Given the description of an element on the screen output the (x, y) to click on. 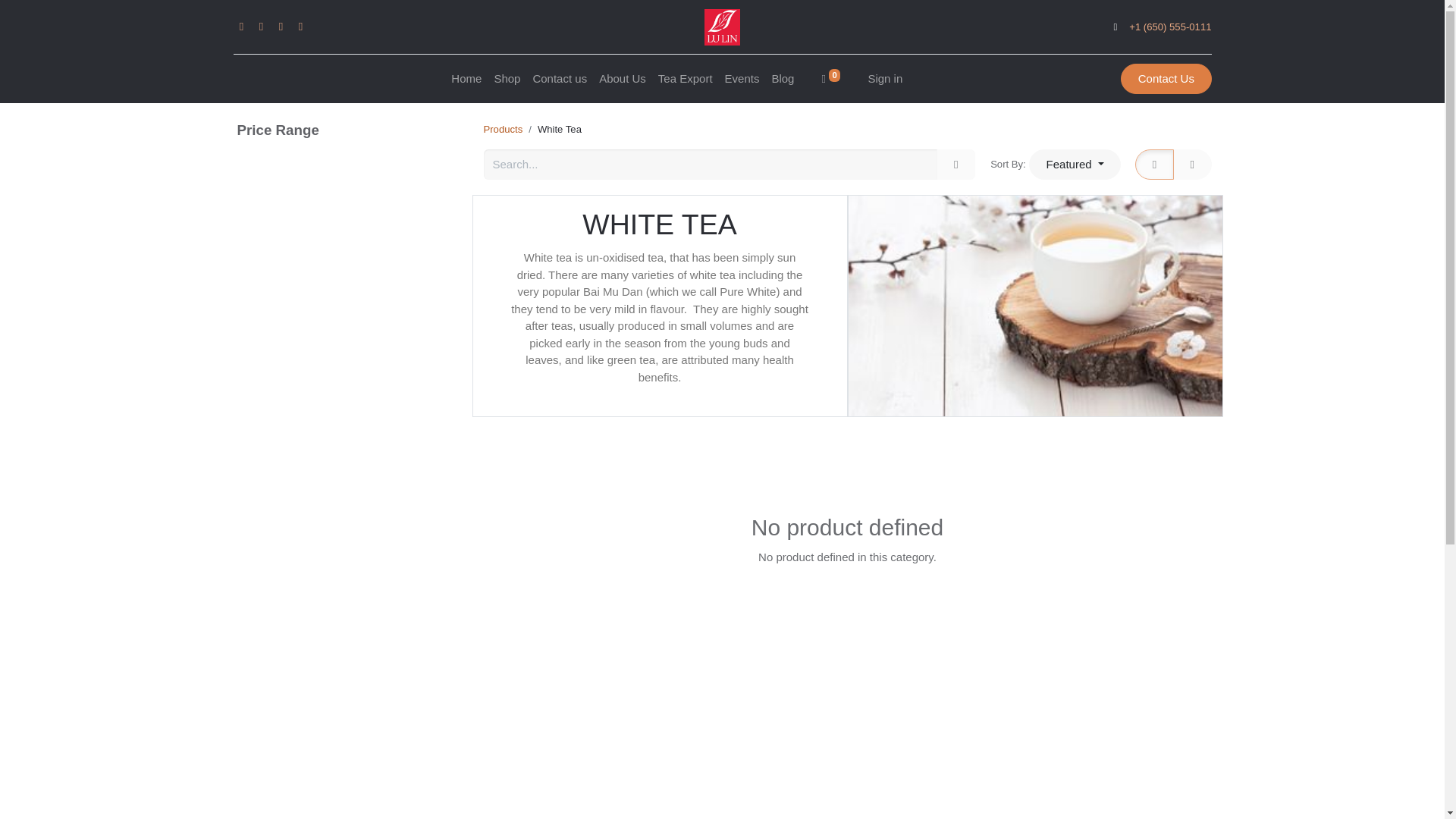
list (1140, 153)
Tea Export (685, 79)
Featured (1075, 164)
Events (742, 79)
List (1192, 164)
Blog (782, 79)
Sign in (884, 79)
Contact Us (1166, 79)
grid (1140, 153)
Contact us (558, 79)
Home (466, 79)
0 (830, 79)
Grid (1154, 164)
About Us (622, 79)
Products (502, 129)
